Given the description of an element on the screen output the (x, y) to click on. 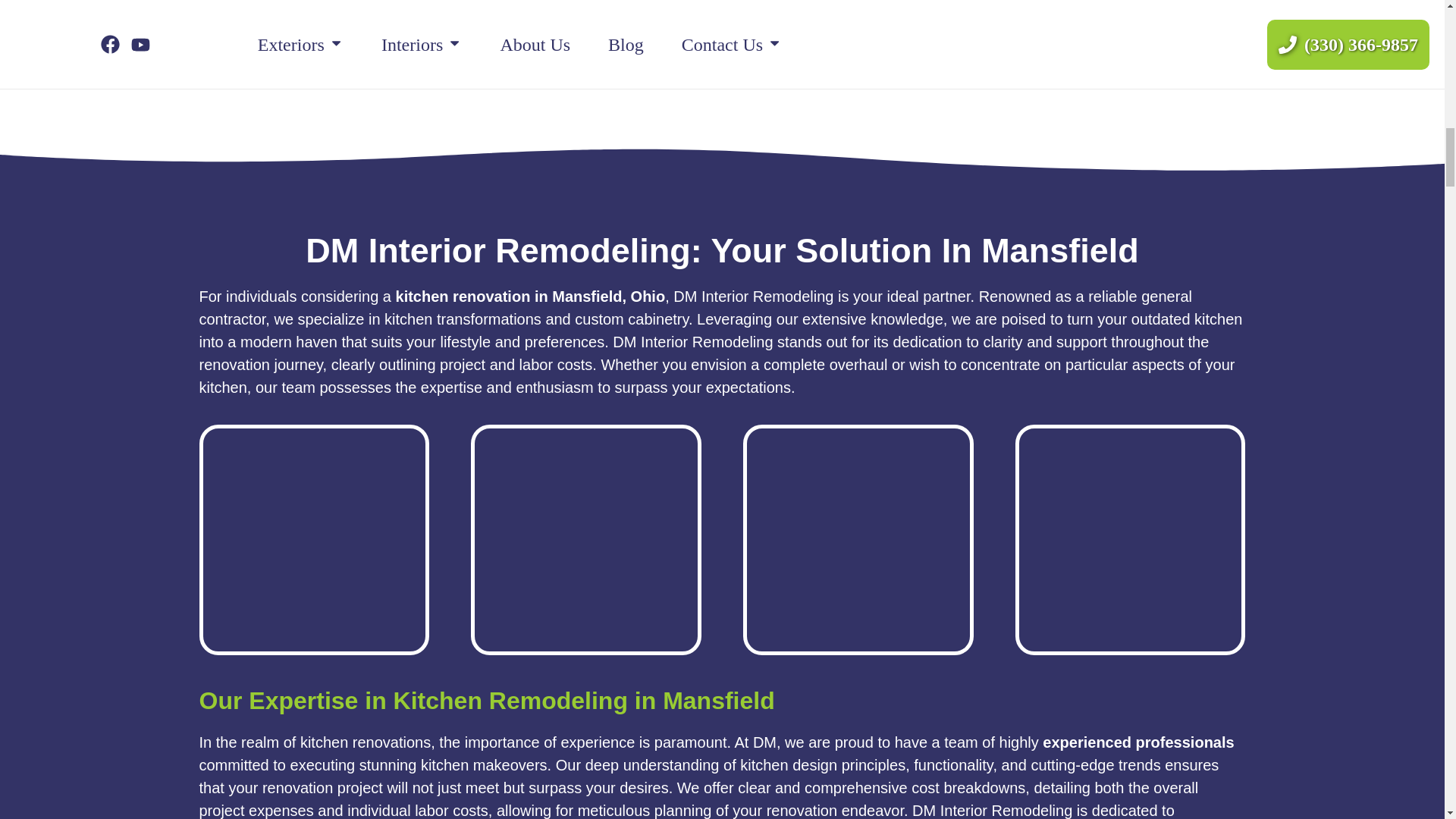
Mansfield, OH Kitchen Remodeling 6 (858, 538)
Mansfield, OH Kitchen Remodeling 5 (585, 538)
Mansfield, OH Kitchen Remodeling 4 (313, 538)
Mansfield, OH Kitchen Remodeling 7 (1130, 538)
